Given the description of an element on the screen output the (x, y) to click on. 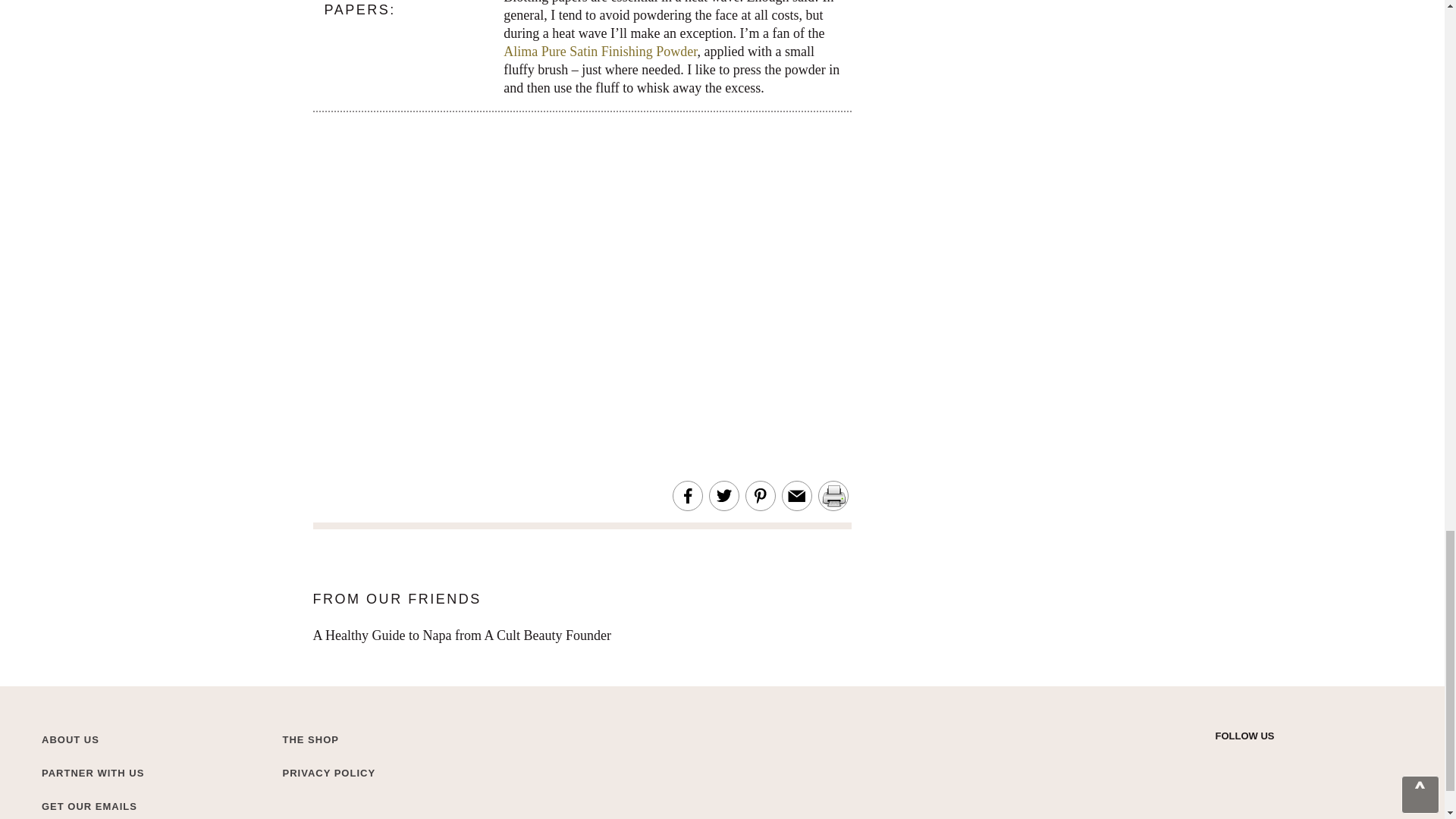
Share this article on Facebook (687, 495)
Twitter (1222, 760)
Pinterest (1302, 760)
Email this article (797, 495)
Share this article on Twitter (724, 495)
Instagram (1249, 760)
Share an image of this article on Pinterest (760, 495)
Facebook (1275, 760)
